Given the description of an element on the screen output the (x, y) to click on. 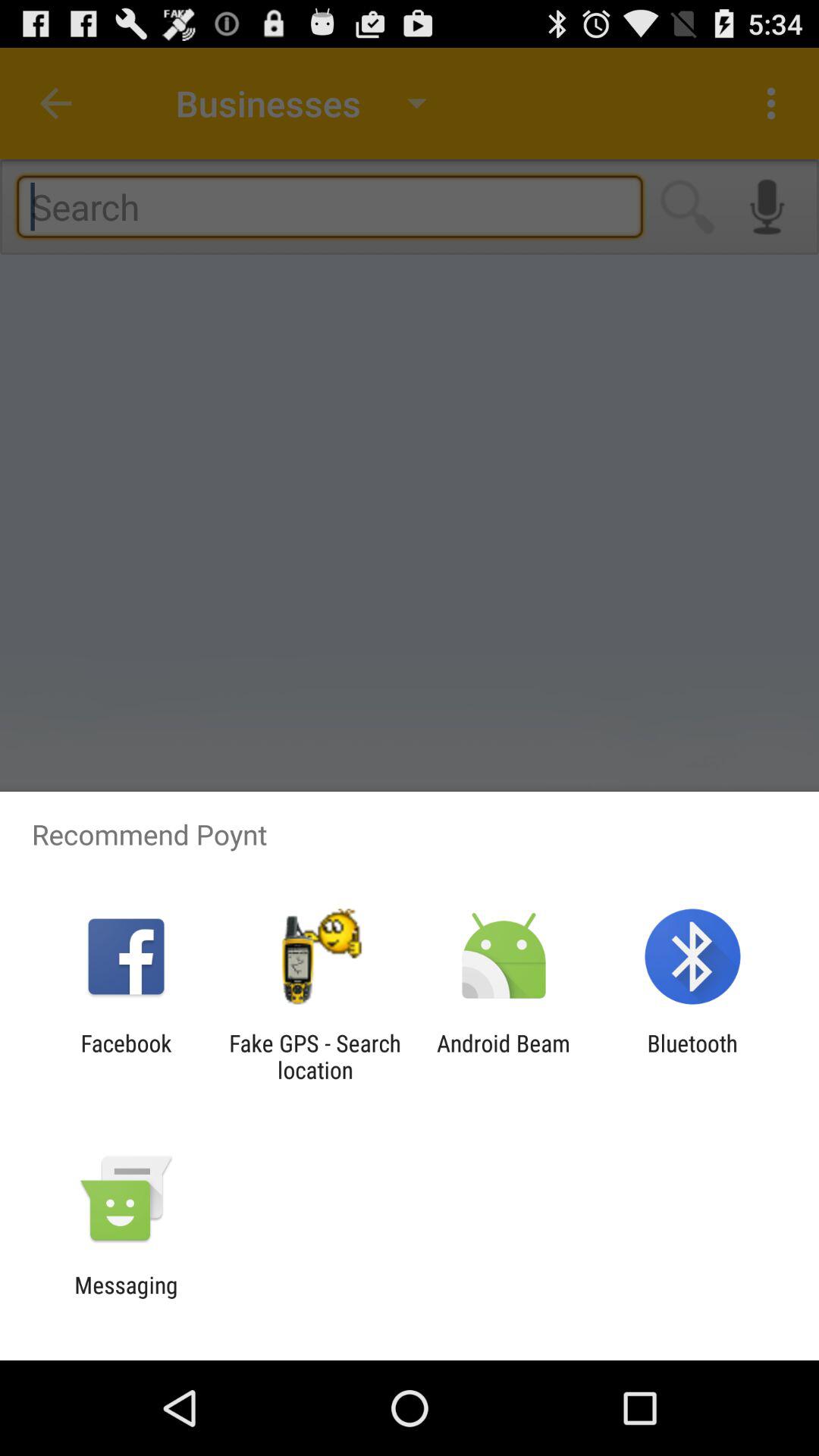
open the item to the right of android beam item (692, 1056)
